Given the description of an element on the screen output the (x, y) to click on. 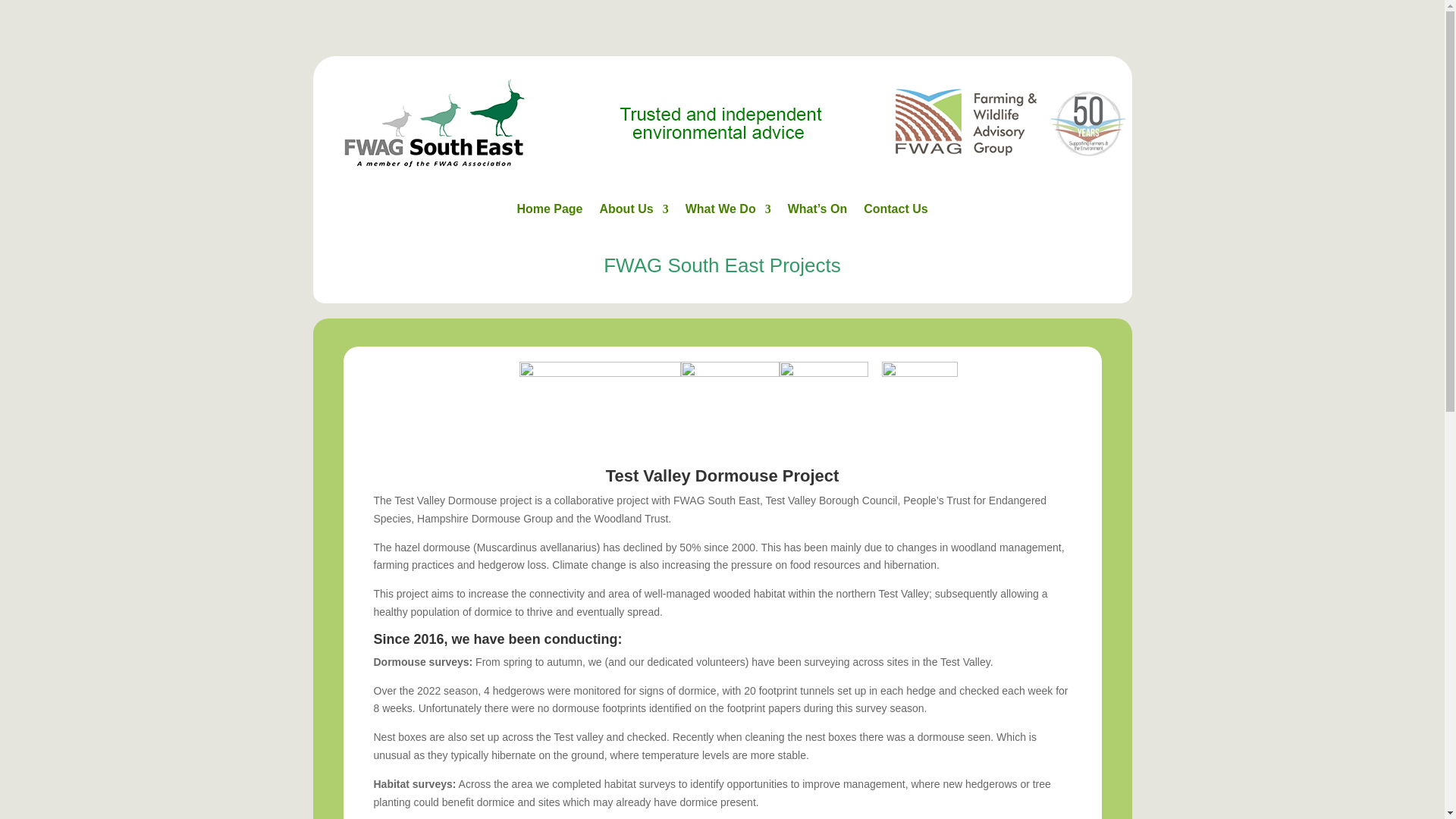
Home Page (549, 211)
What We Do (728, 211)
Contact Us (895, 211)
FWAGSE-Website-Tagline-PK161020 (721, 124)
About Us (633, 211)
FWAG-SE-logo-with-FA-245px (433, 122)
FWAG main logo 50yrs (1009, 122)
